Given the description of an element on the screen output the (x, y) to click on. 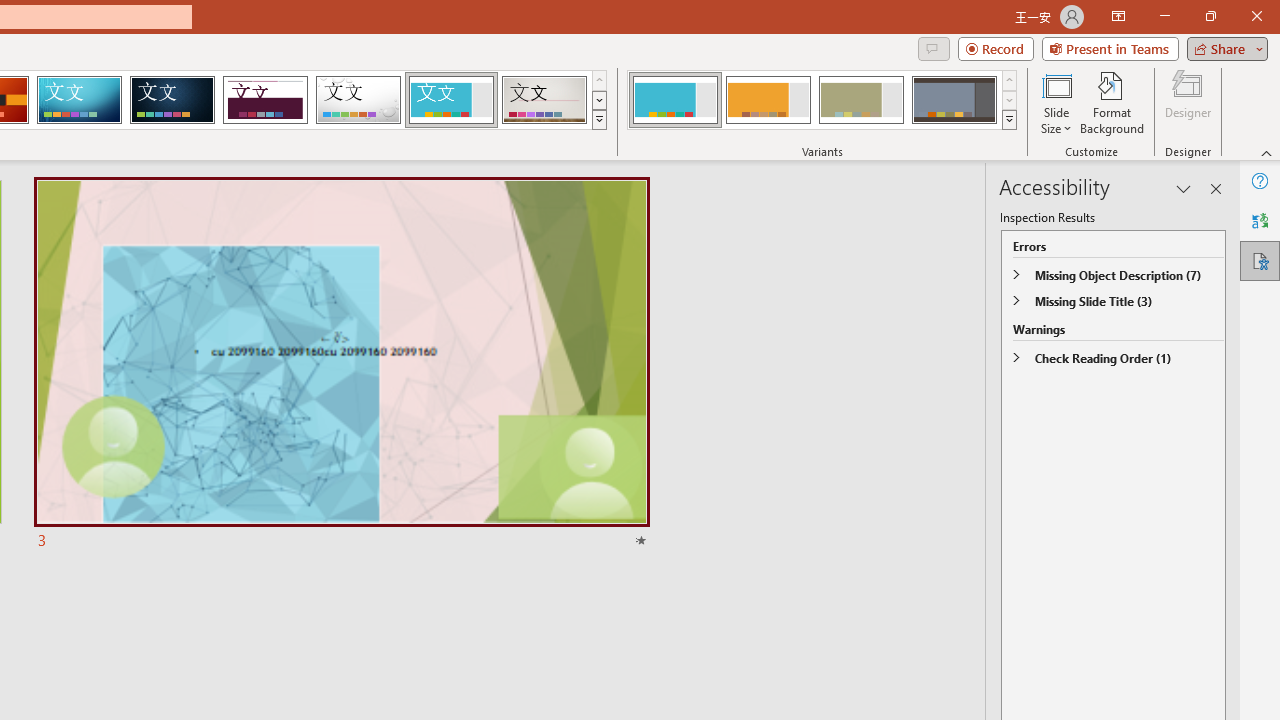
AutomationID: ThemeVariantsGallery (822, 99)
Gallery (544, 100)
